Given the description of an element on the screen output the (x, y) to click on. 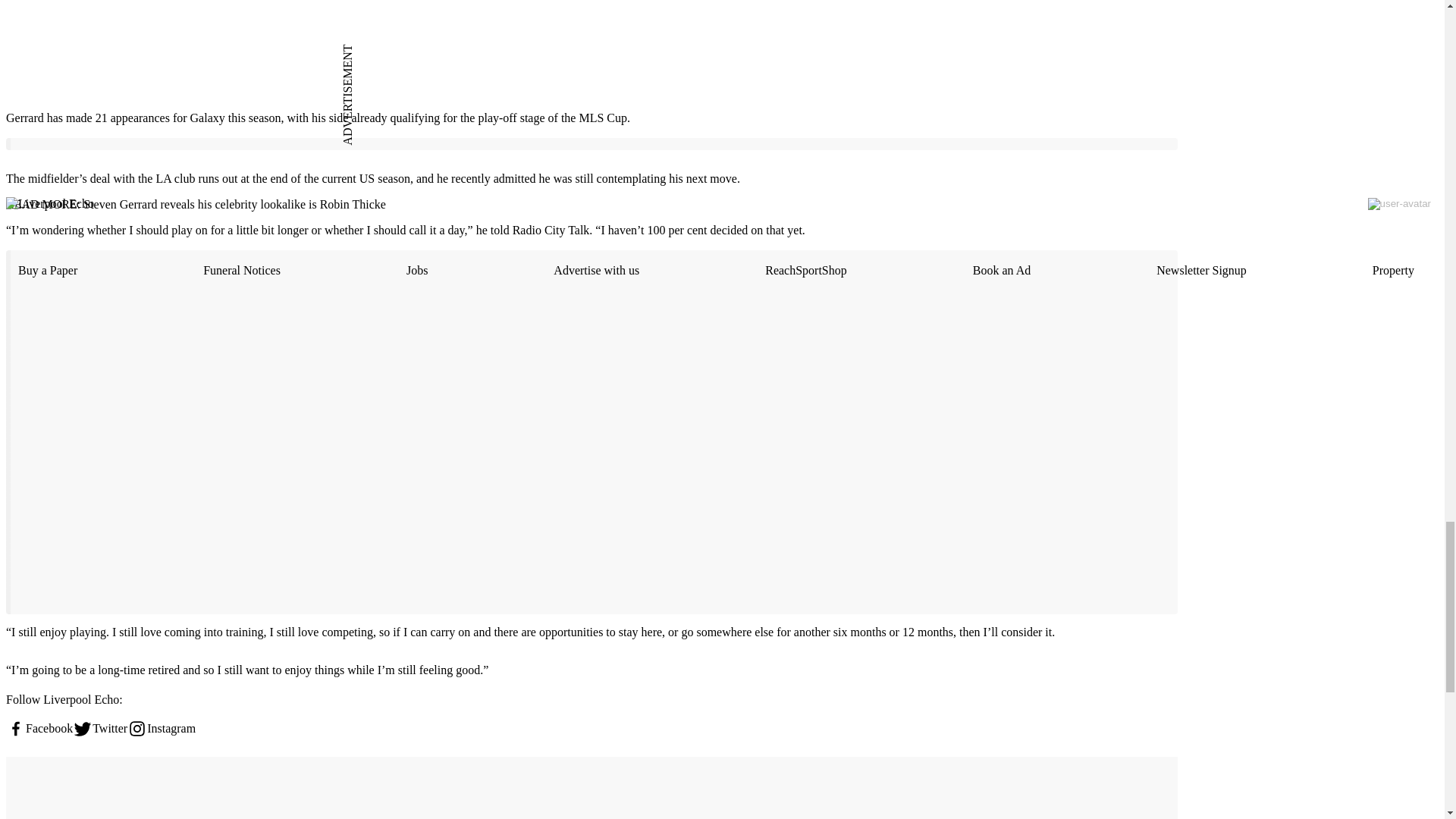
Twitter (100, 728)
Facebook (38, 728)
Instagram (161, 728)
